Given the description of an element on the screen output the (x, y) to click on. 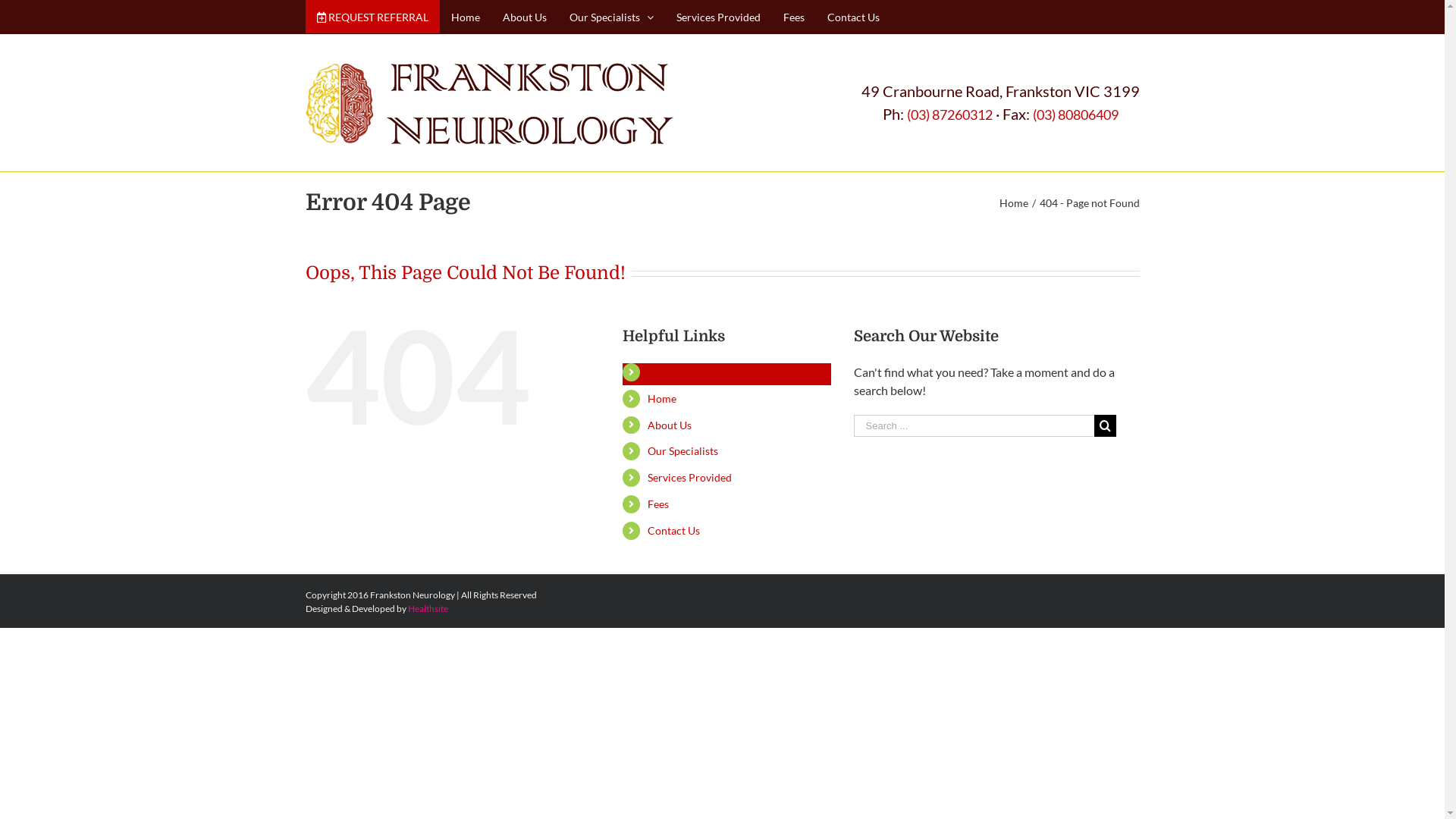
Services Provided Element type: text (689, 476)
Our Specialists Element type: text (682, 450)
About Us Element type: text (669, 424)
REQUEST REFERRAL Element type: text (371, 16)
Services Provided Element type: text (717, 16)
Contact Us Element type: text (673, 530)
About Us Element type: text (524, 16)
REQUEST REFERRAL Element type: text (703, 371)
Our Specialists Element type: text (611, 16)
Fees Element type: text (793, 16)
(03) 80806409 Element type: text (1075, 114)
Healthsite Element type: text (427, 608)
Home Element type: text (1013, 201)
Contact Us Element type: text (853, 16)
(03) 87260312 Element type: text (949, 114)
Home Element type: text (465, 16)
Fees Element type: text (657, 503)
Home Element type: text (661, 398)
